Given the description of an element on the screen output the (x, y) to click on. 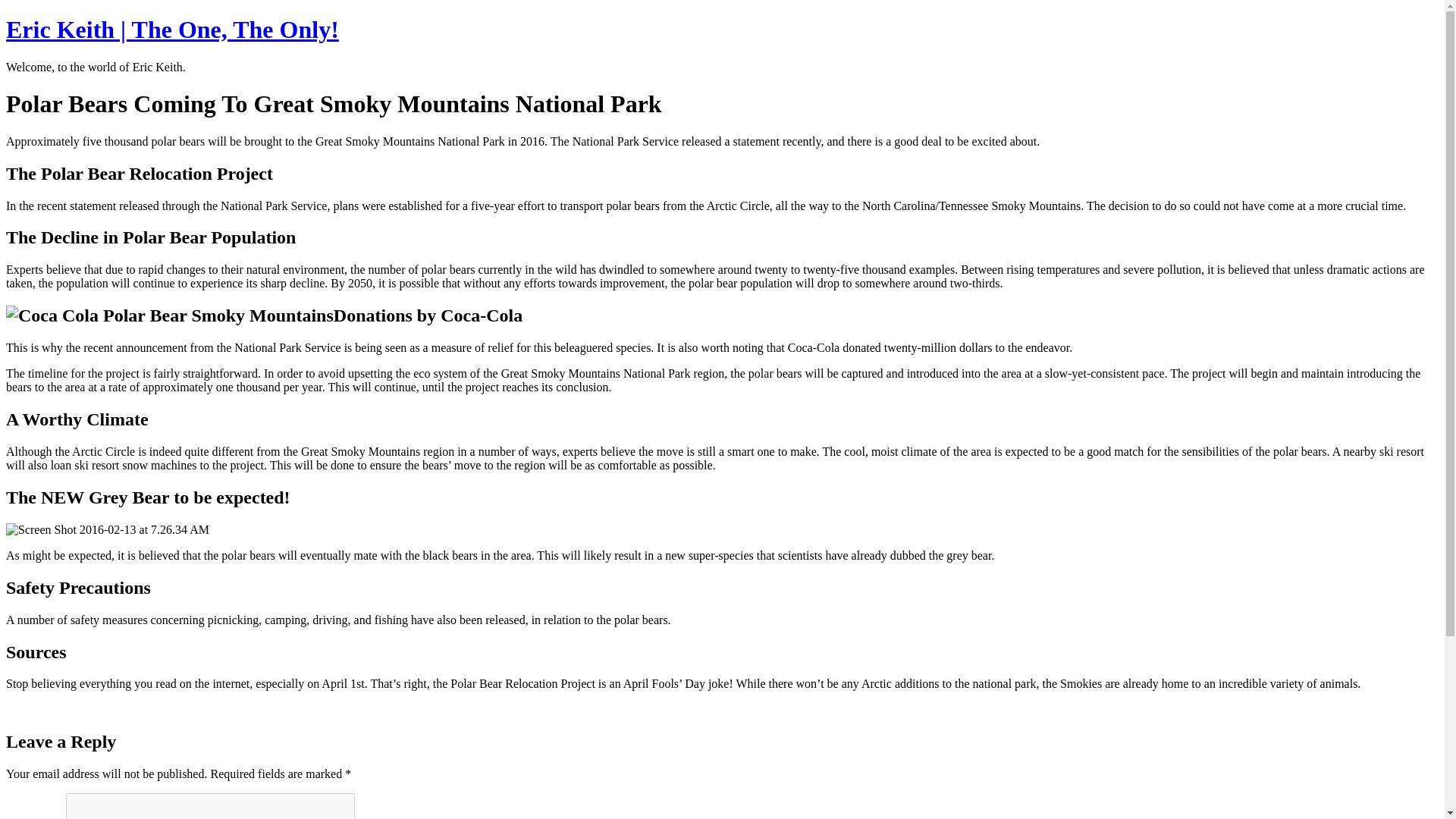
Home (172, 29)
